Given the description of an element on the screen output the (x, y) to click on. 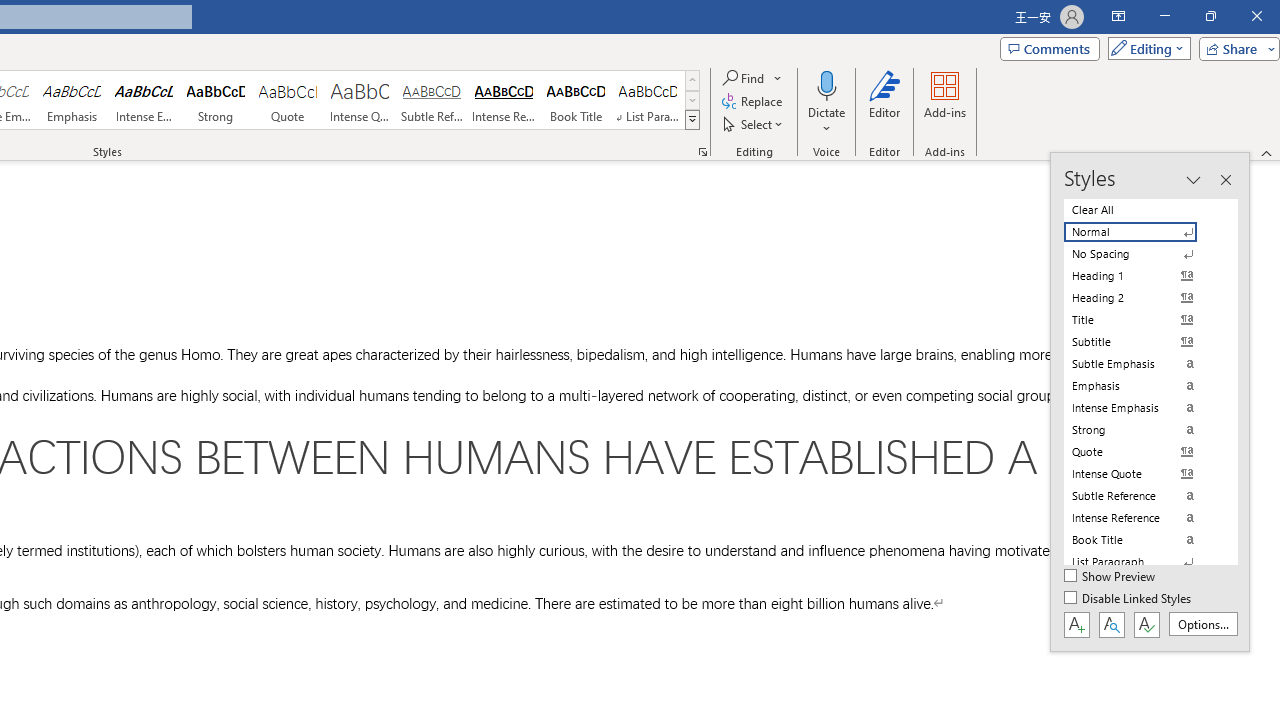
Select (754, 124)
Heading 1 (1142, 275)
Book Title (575, 100)
Class: NetUIButton (1146, 624)
Quote (287, 100)
Styles (692, 120)
Row up (692, 79)
Intense Reference (504, 100)
